Given the description of an element on the screen output the (x, y) to click on. 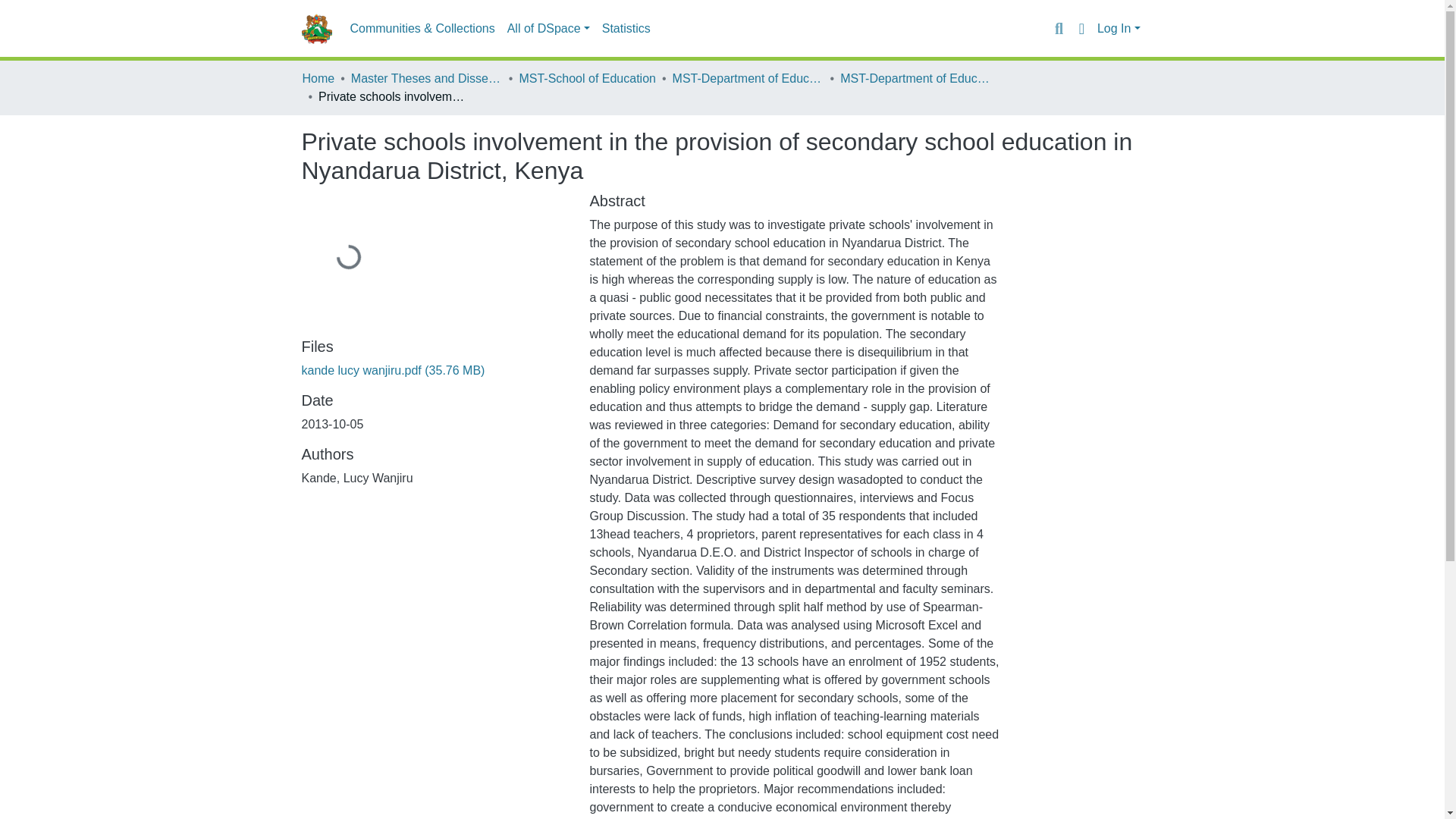
All of DSpace (547, 28)
Statistics (625, 28)
Log In (1118, 28)
Language switch (1081, 28)
MST-School of Education (587, 78)
Search (1058, 28)
Home (317, 78)
Statistics (625, 28)
